Given the description of an element on the screen output the (x, y) to click on. 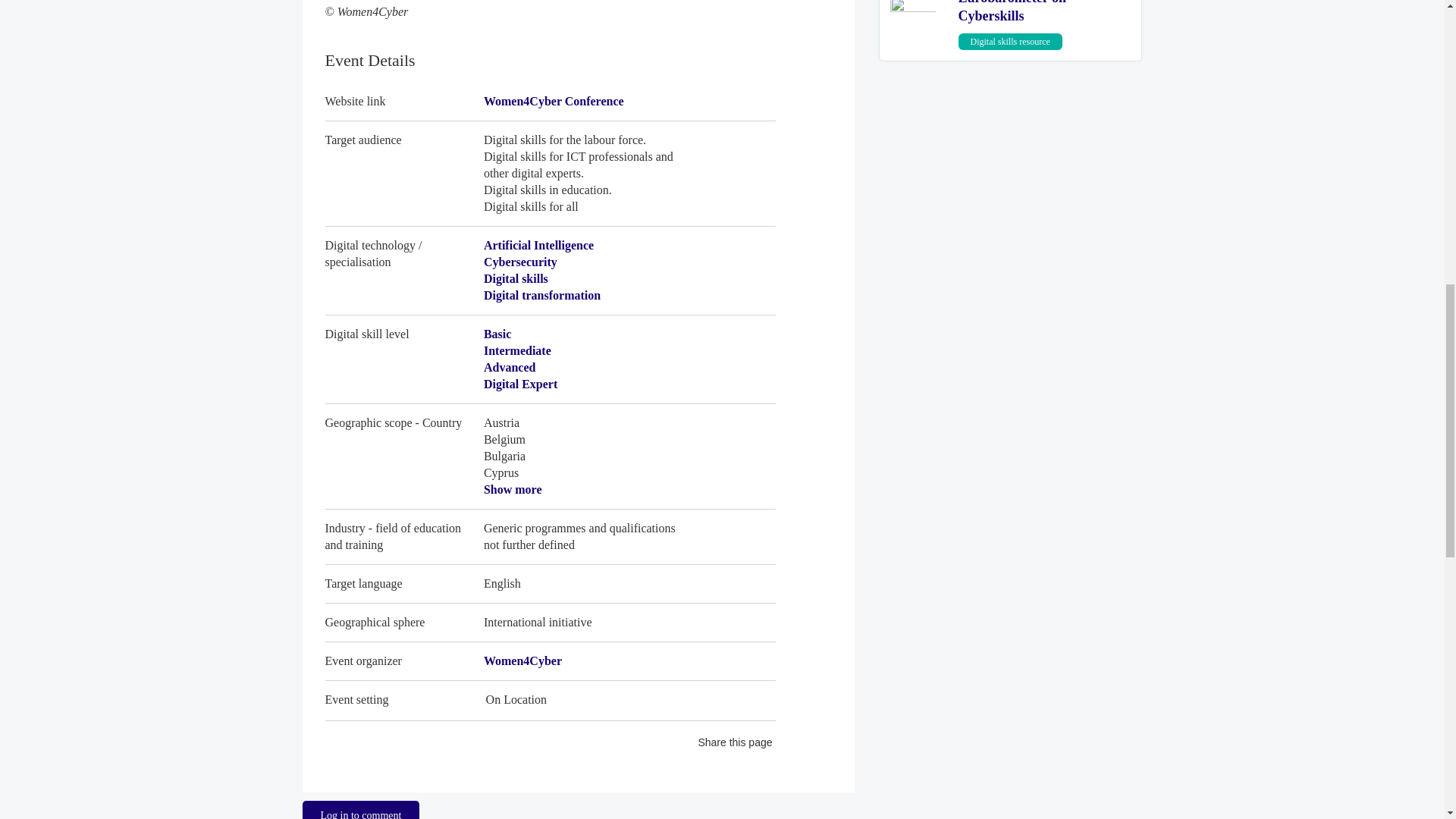
Eurobarometer on Cyberskills (1012, 11)
Geographical sphere (549, 622)
On Location (549, 694)
